Given the description of an element on the screen output the (x, y) to click on. 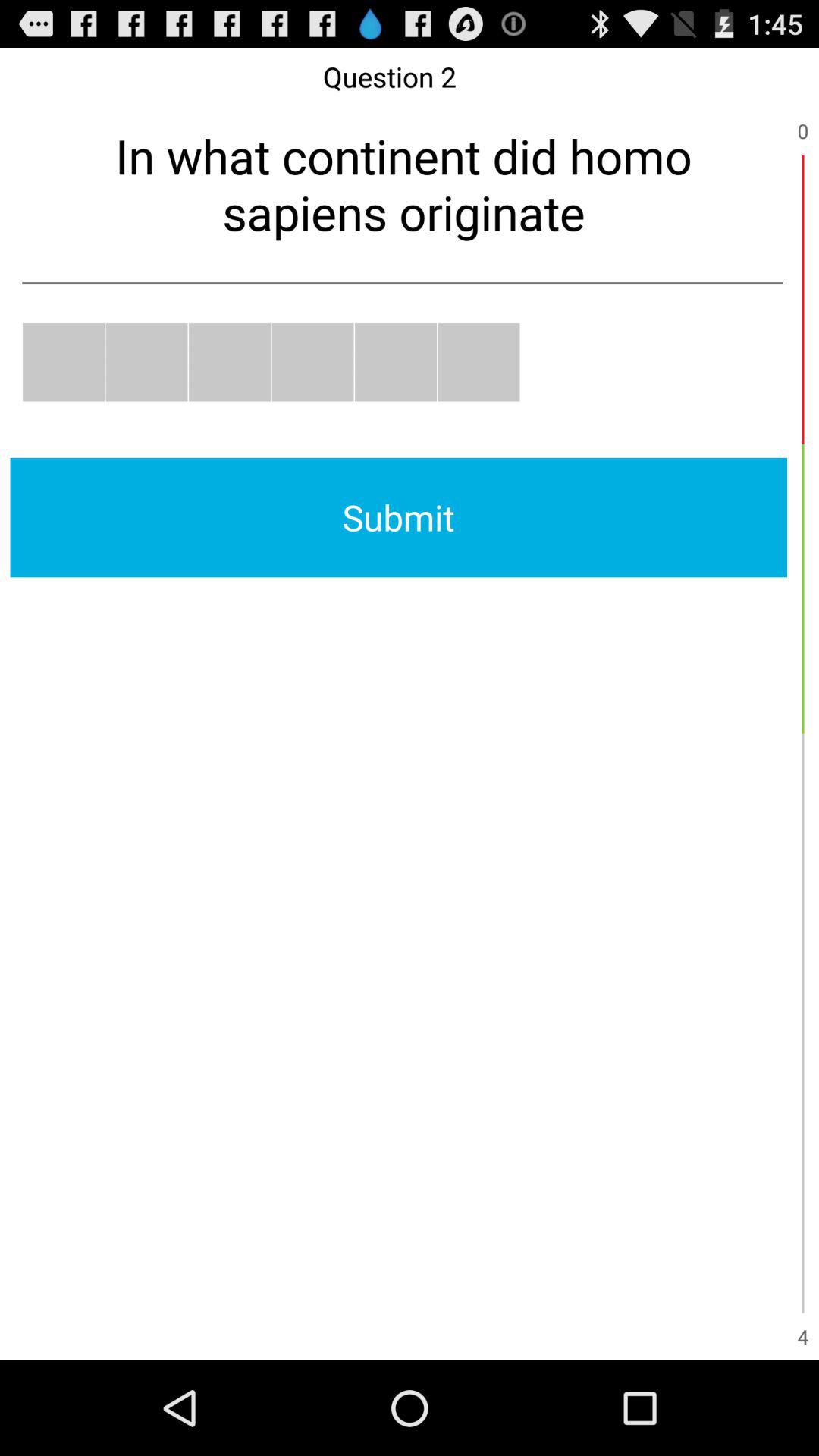
tap icon above the 4 (802, 1167)
